Given the description of an element on the screen output the (x, y) to click on. 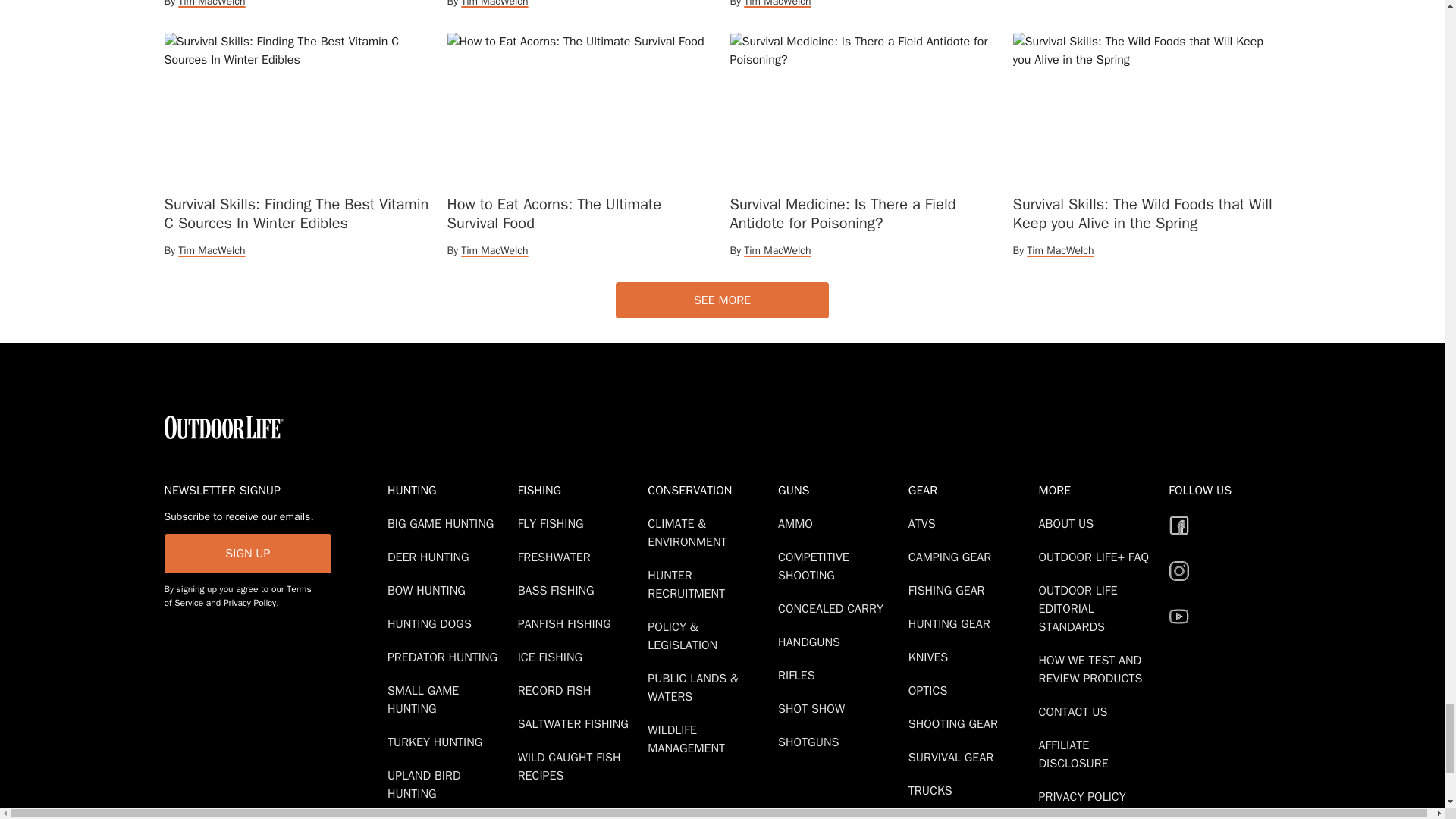
Big Game Hunting (443, 523)
Hunting (449, 490)
Fishing (580, 490)
Conservation (709, 490)
Deer Hunting (431, 557)
Fly Fishing (553, 523)
